Given the description of an element on the screen output the (x, y) to click on. 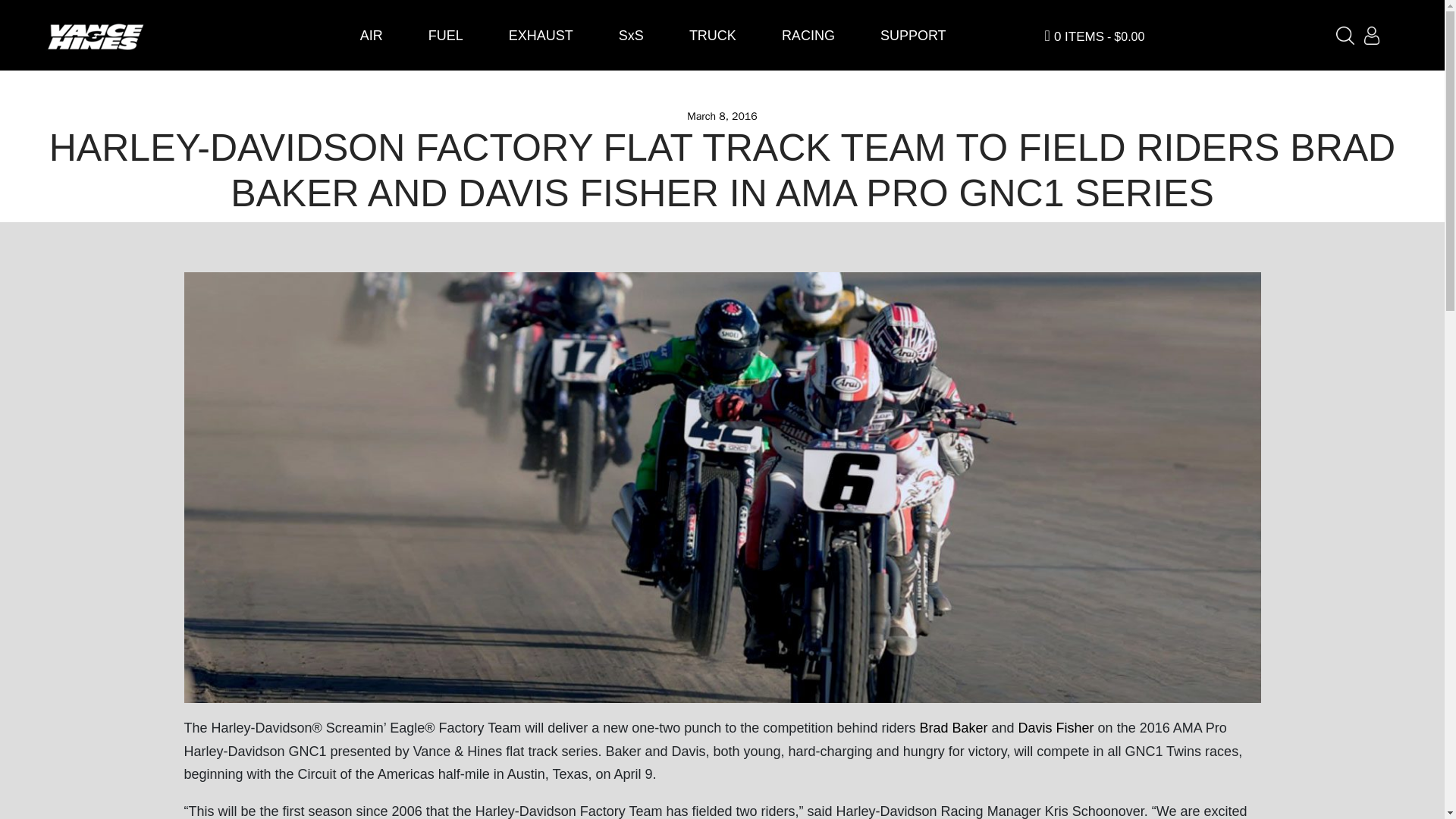
Start shopping (1056, 34)
SxS (630, 35)
FUEL (446, 35)
AIR (371, 35)
RACING (807, 35)
EXHAUST (540, 35)
TRUCK (712, 35)
